Given the description of an element on the screen output the (x, y) to click on. 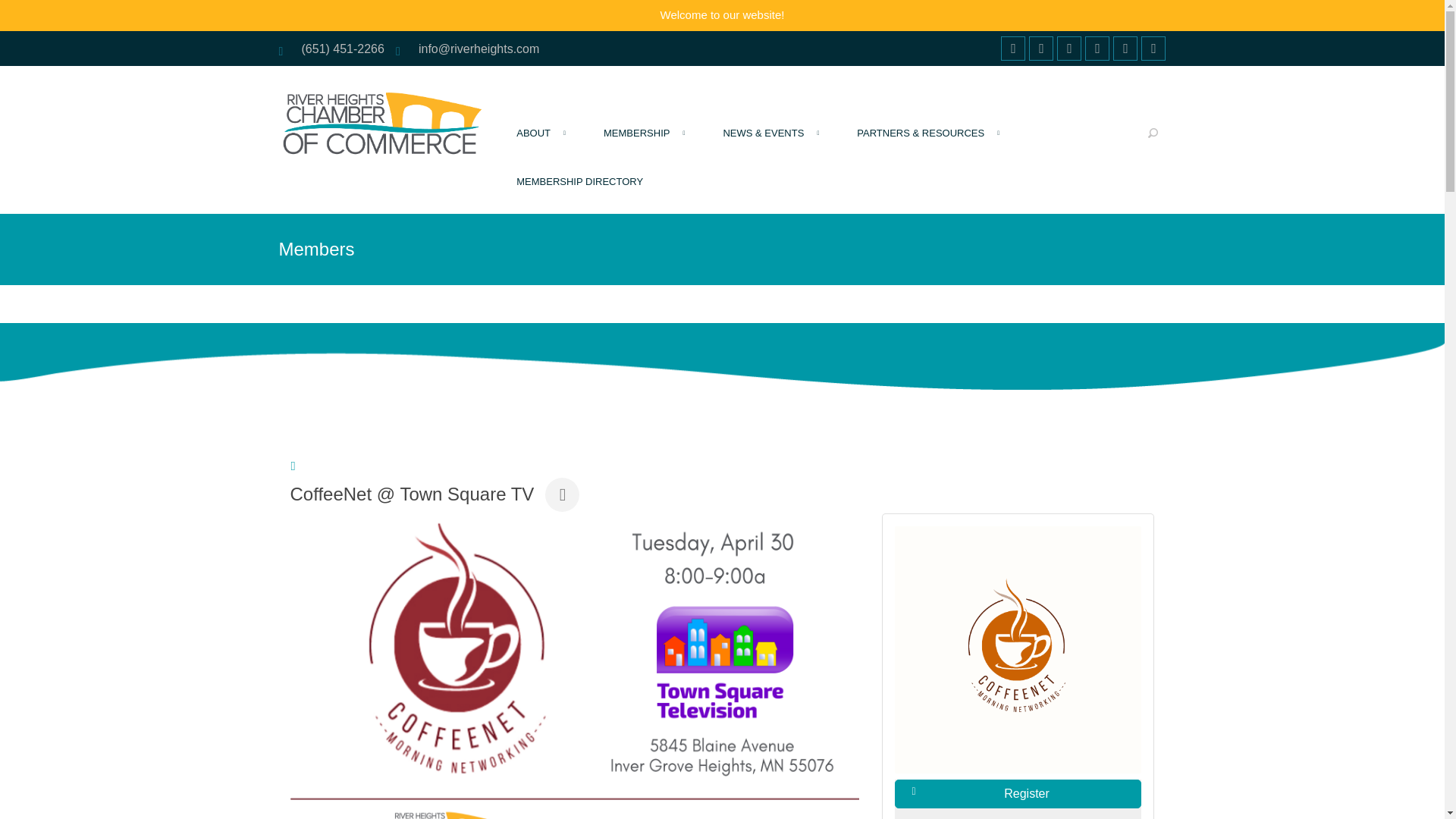
ABOUT (539, 141)
About (539, 141)
Membership (642, 141)
MEMBERSHIP (642, 141)
